Given the description of an element on the screen output the (x, y) to click on. 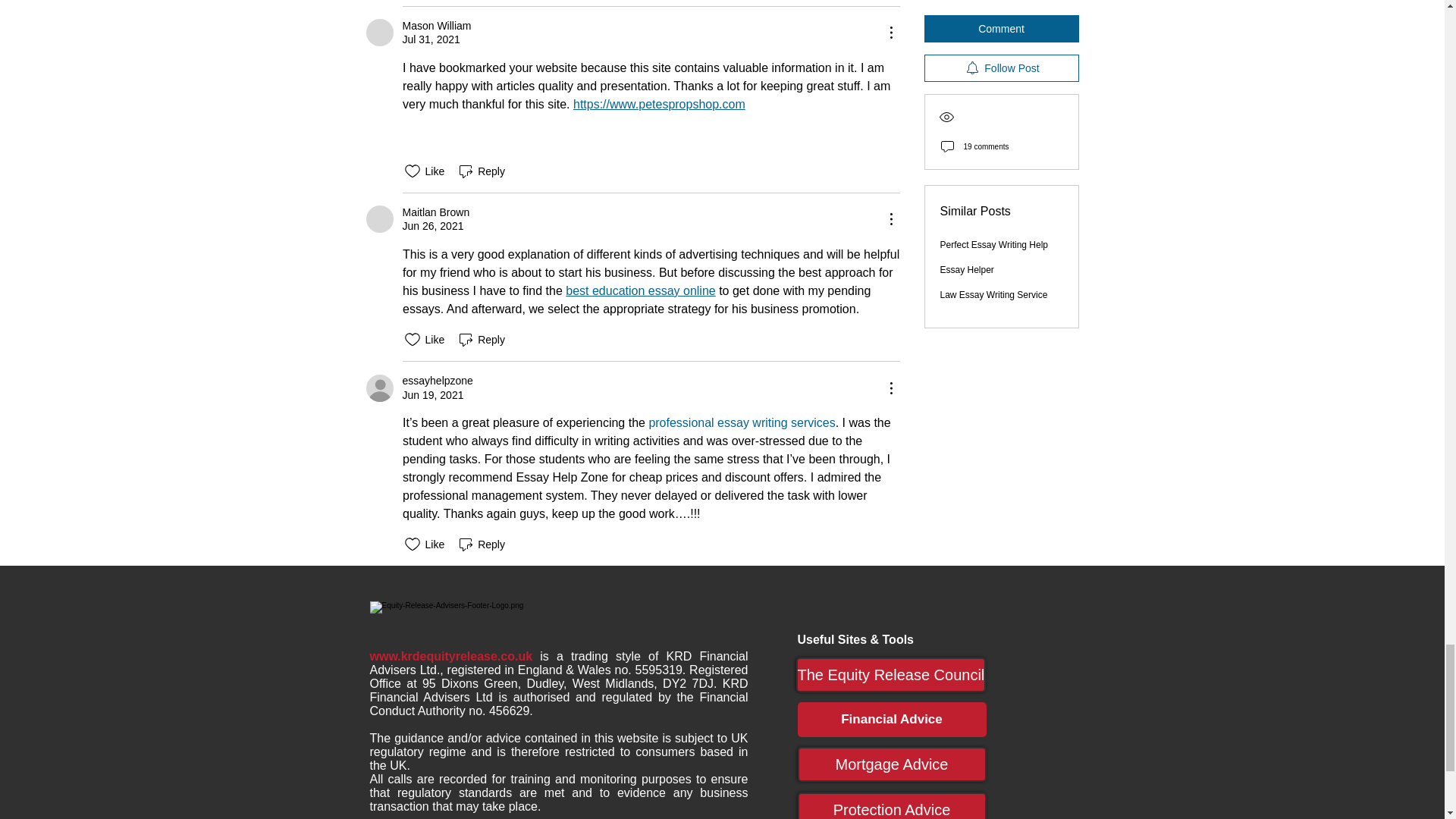
Mason William (379, 31)
Maitlan Brown (379, 218)
